Given the description of an element on the screen output the (x, y) to click on. 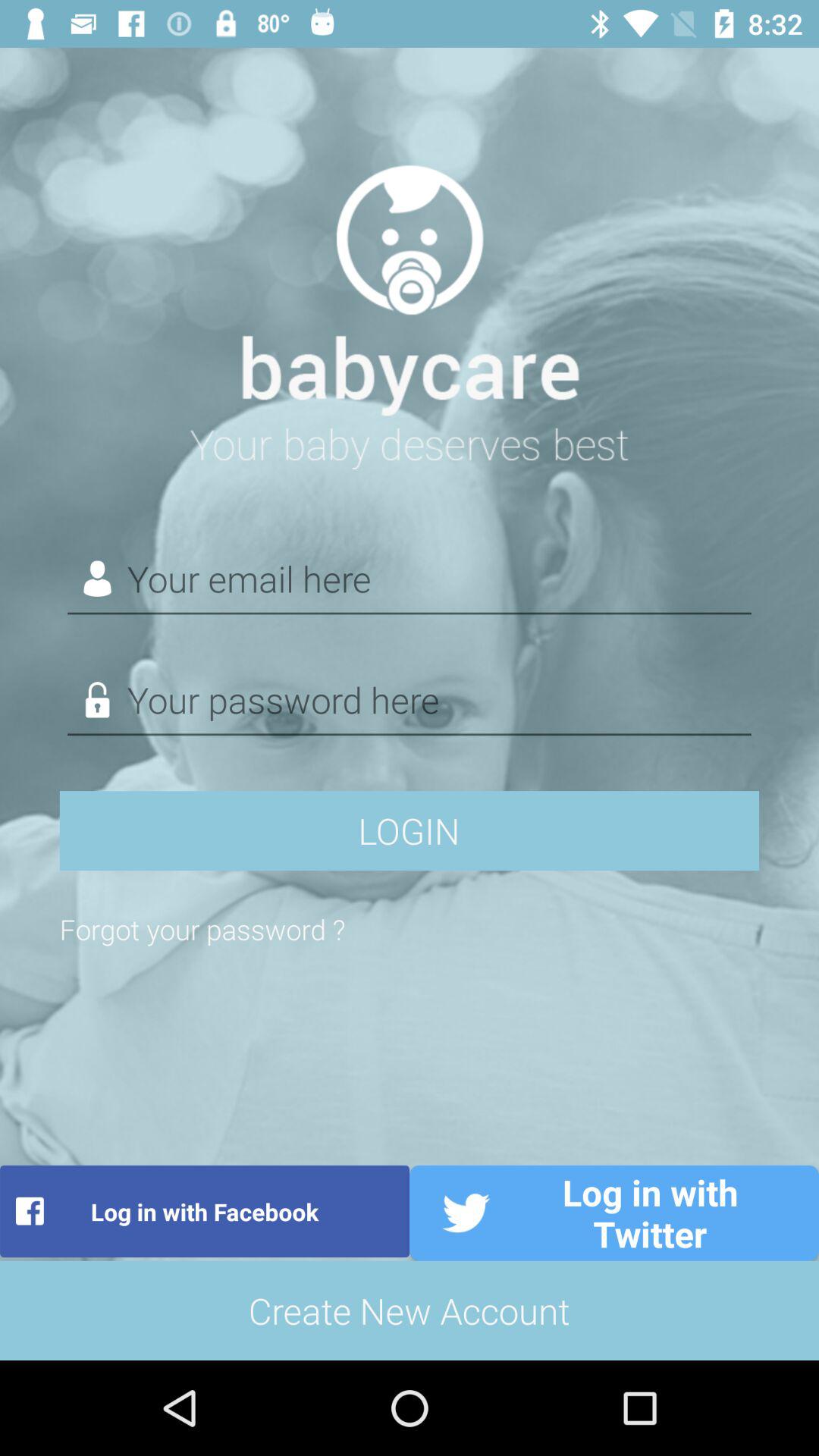
click to enter the email (409, 579)
